Given the description of an element on the screen output the (x, y) to click on. 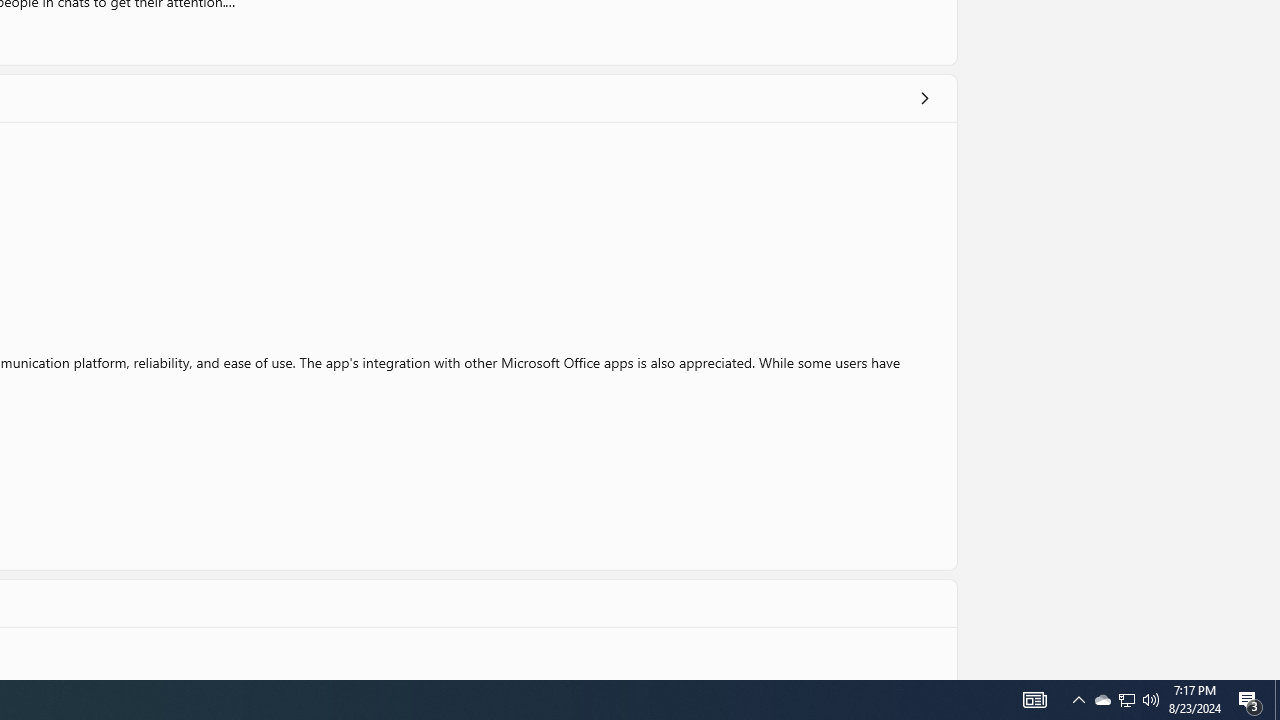
Show all ratings and reviews (924, 97)
